Given the description of an element on the screen output the (x, y) to click on. 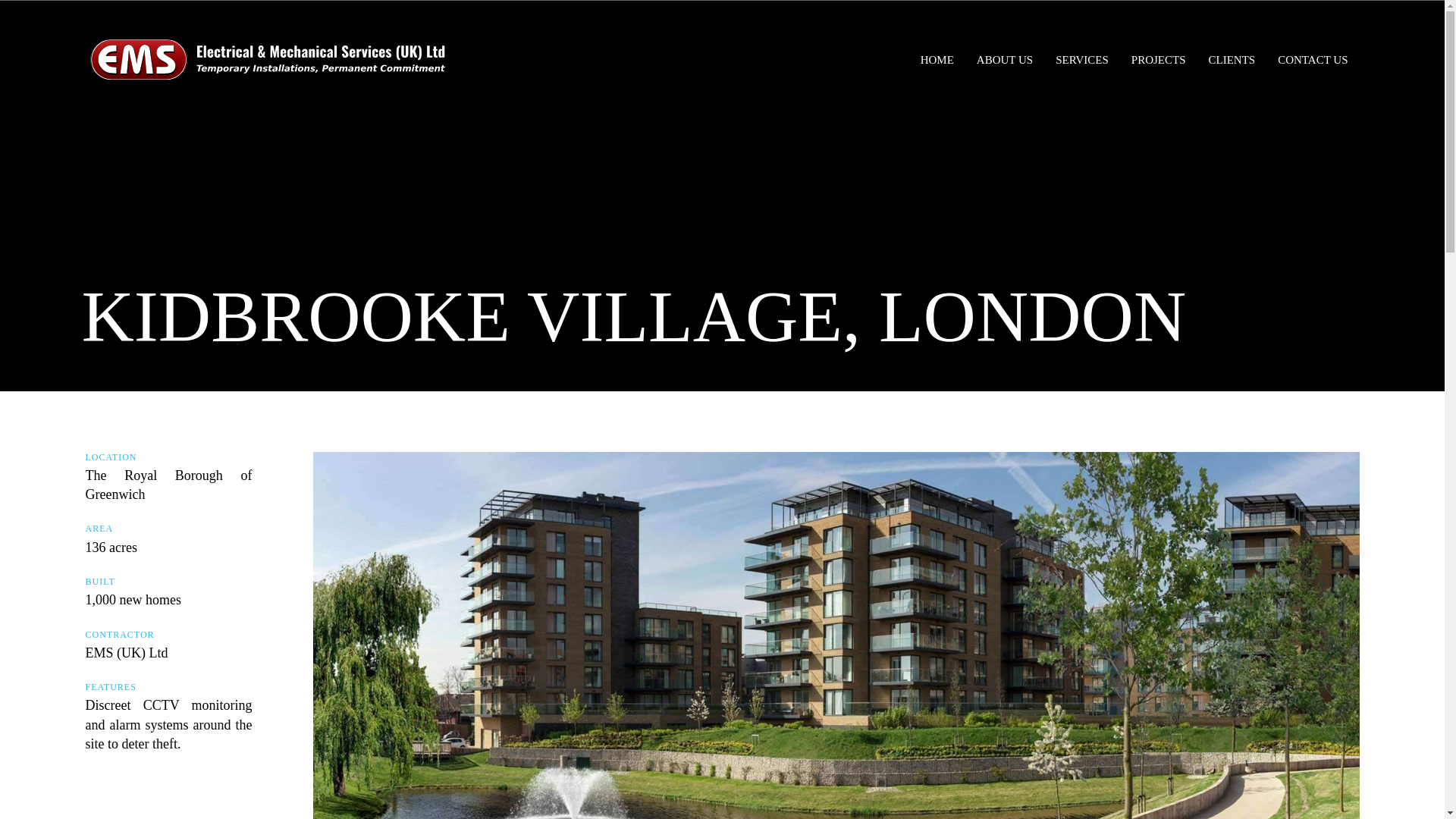
CONTACT US (1313, 58)
ABOUT US (1004, 58)
HOME (936, 58)
PROJECTS (1158, 58)
SERVICES (1081, 58)
CLIENTS (1231, 58)
